Given the description of an element on the screen output the (x, y) to click on. 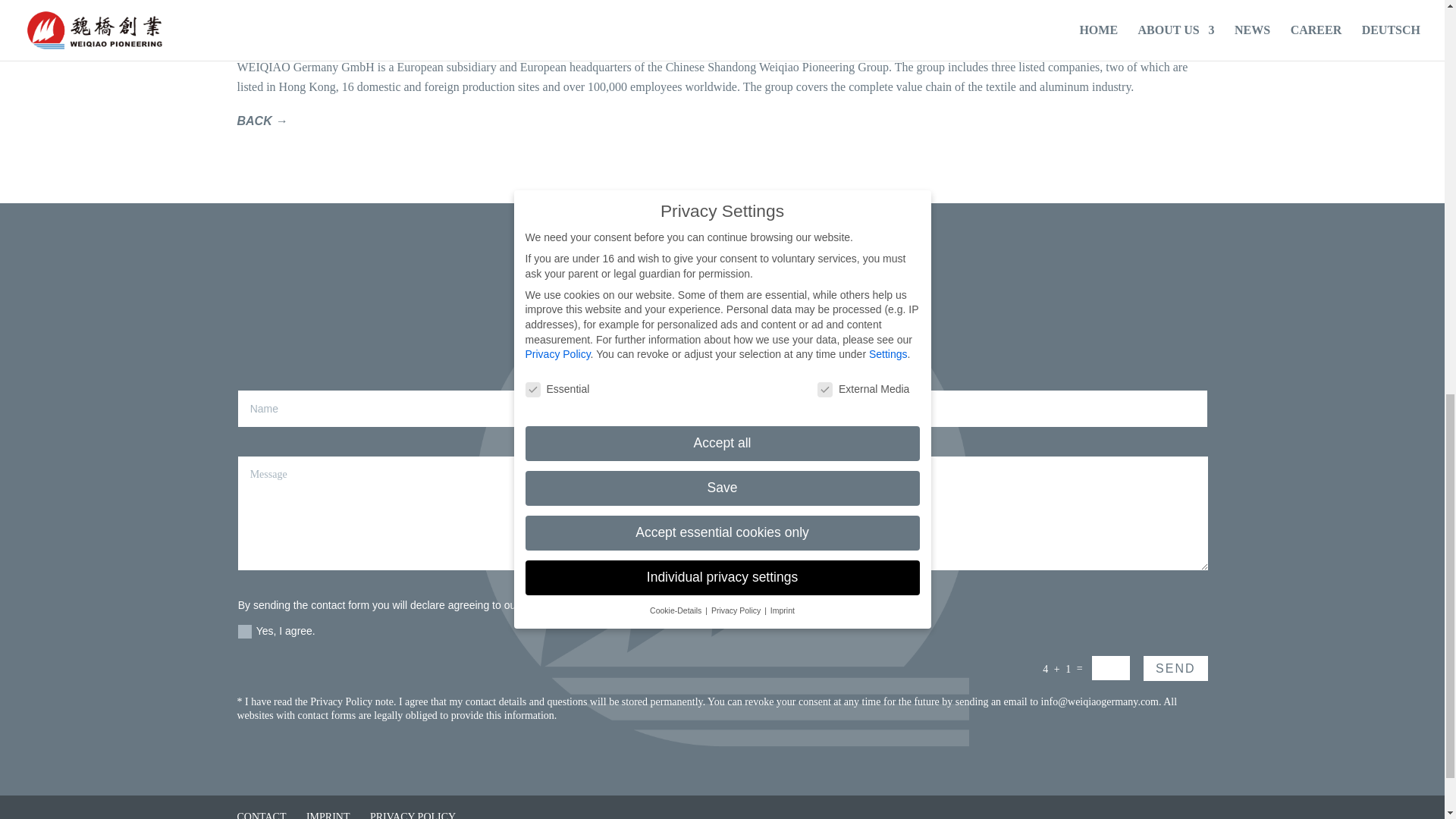
IMPRINT (327, 815)
SEND (1174, 668)
Privacy Policy (341, 701)
CONTACT (260, 815)
PRIVACY POLICY (412, 815)
